Given the description of an element on the screen output the (x, y) to click on. 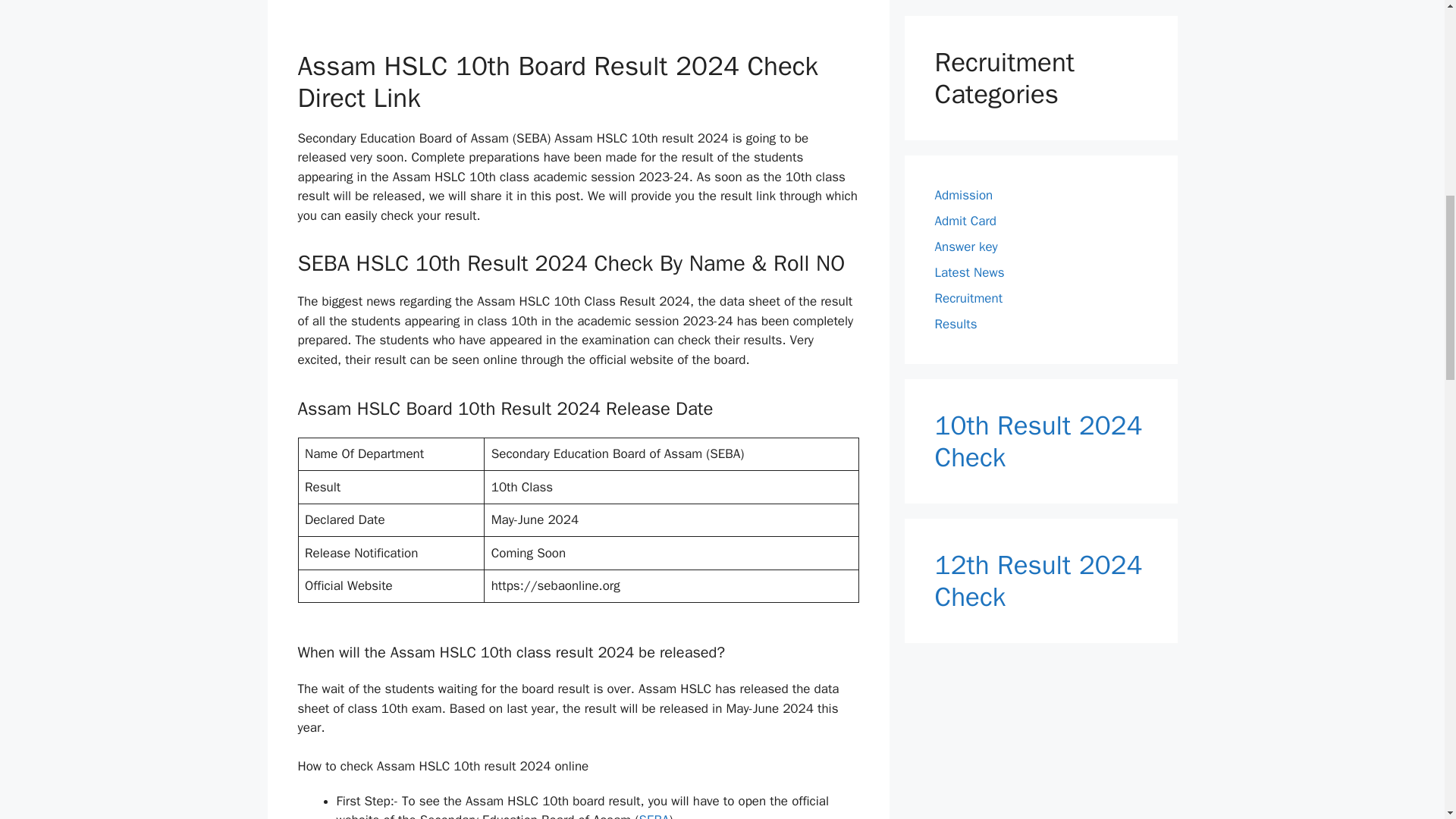
Admission (963, 195)
SEBA (653, 815)
Admit Card (964, 220)
Advertisement (578, 22)
